Given the description of an element on the screen output the (x, y) to click on. 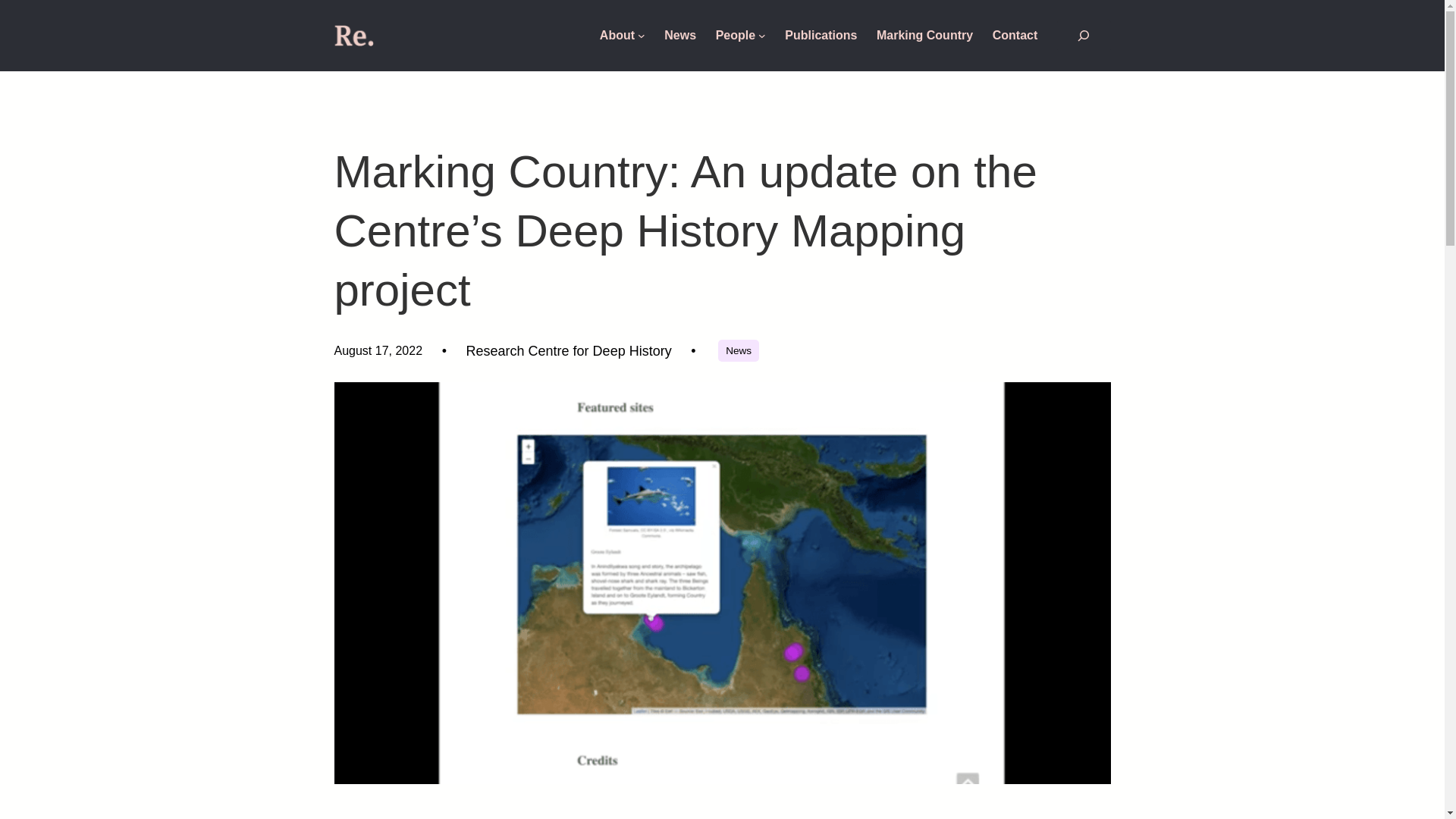
Marking Country (924, 35)
People (735, 35)
Contact (1015, 35)
Publications (820, 35)
News (679, 35)
News (737, 350)
About (616, 35)
